Given the description of an element on the screen output the (x, y) to click on. 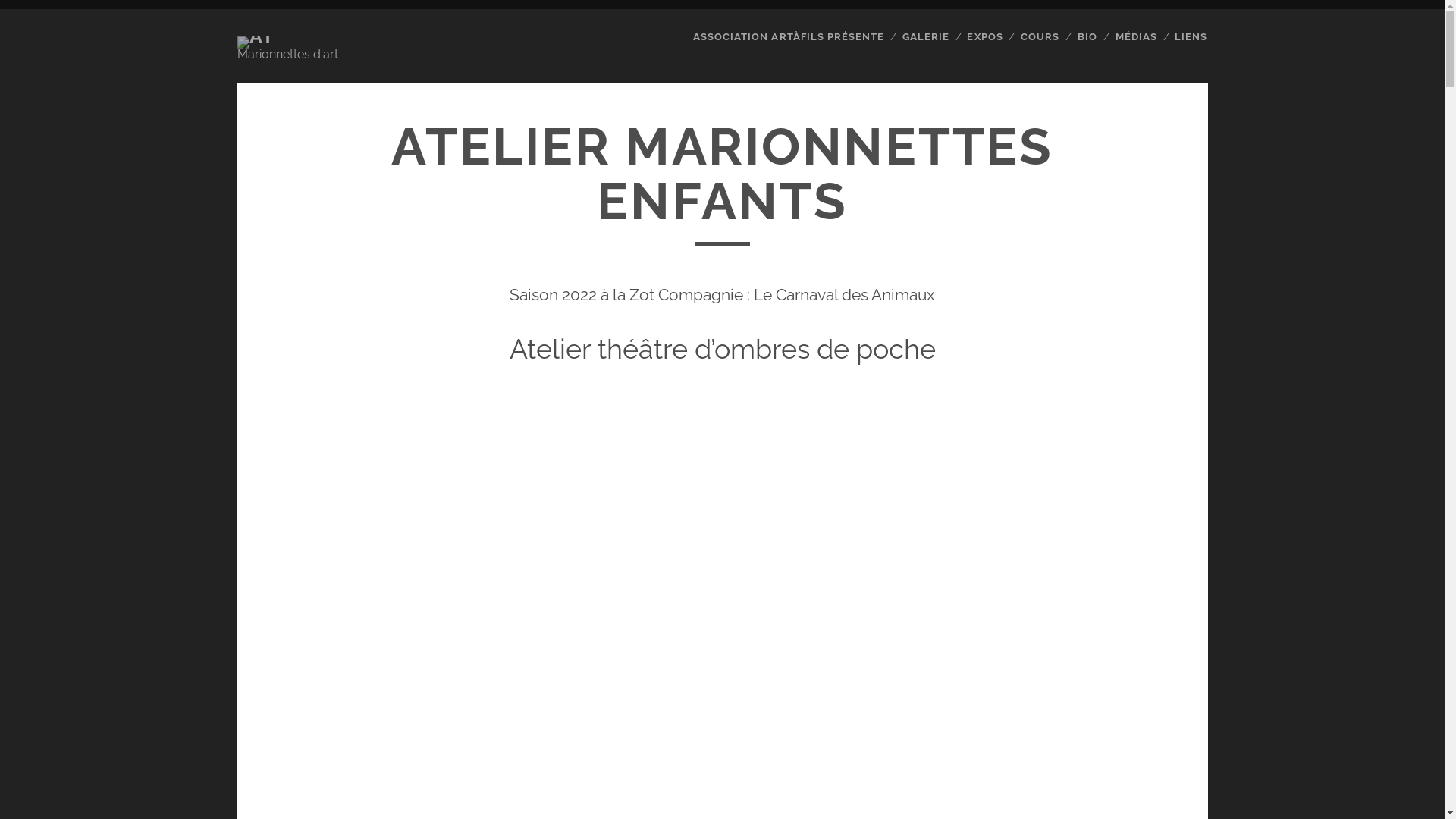
EXPOS Element type: text (984, 37)
GALERIE Element type: text (925, 37)
COURS Element type: text (1039, 37)
BIO Element type: text (1087, 37)
LIENS Element type: text (1190, 37)
